Given the description of an element on the screen output the (x, y) to click on. 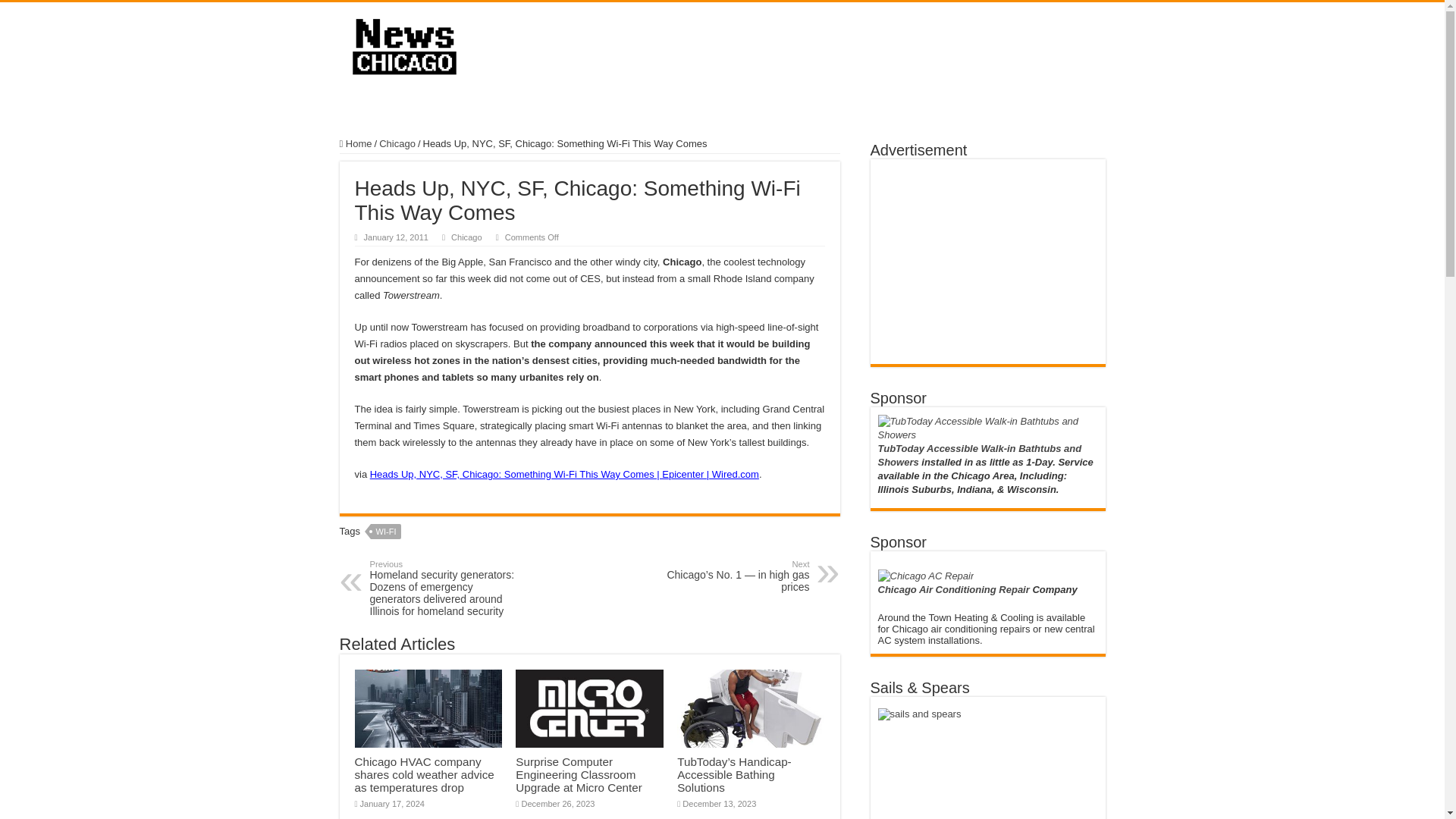
WI-FI (386, 531)
Chicago (396, 143)
TubToday Accessible Walk-in Bathtubs and Showers (979, 455)
News Chicago (403, 43)
Chicago Air Conditioning Repair (953, 589)
Chicago (466, 236)
Home (355, 143)
